Given the description of an element on the screen output the (x, y) to click on. 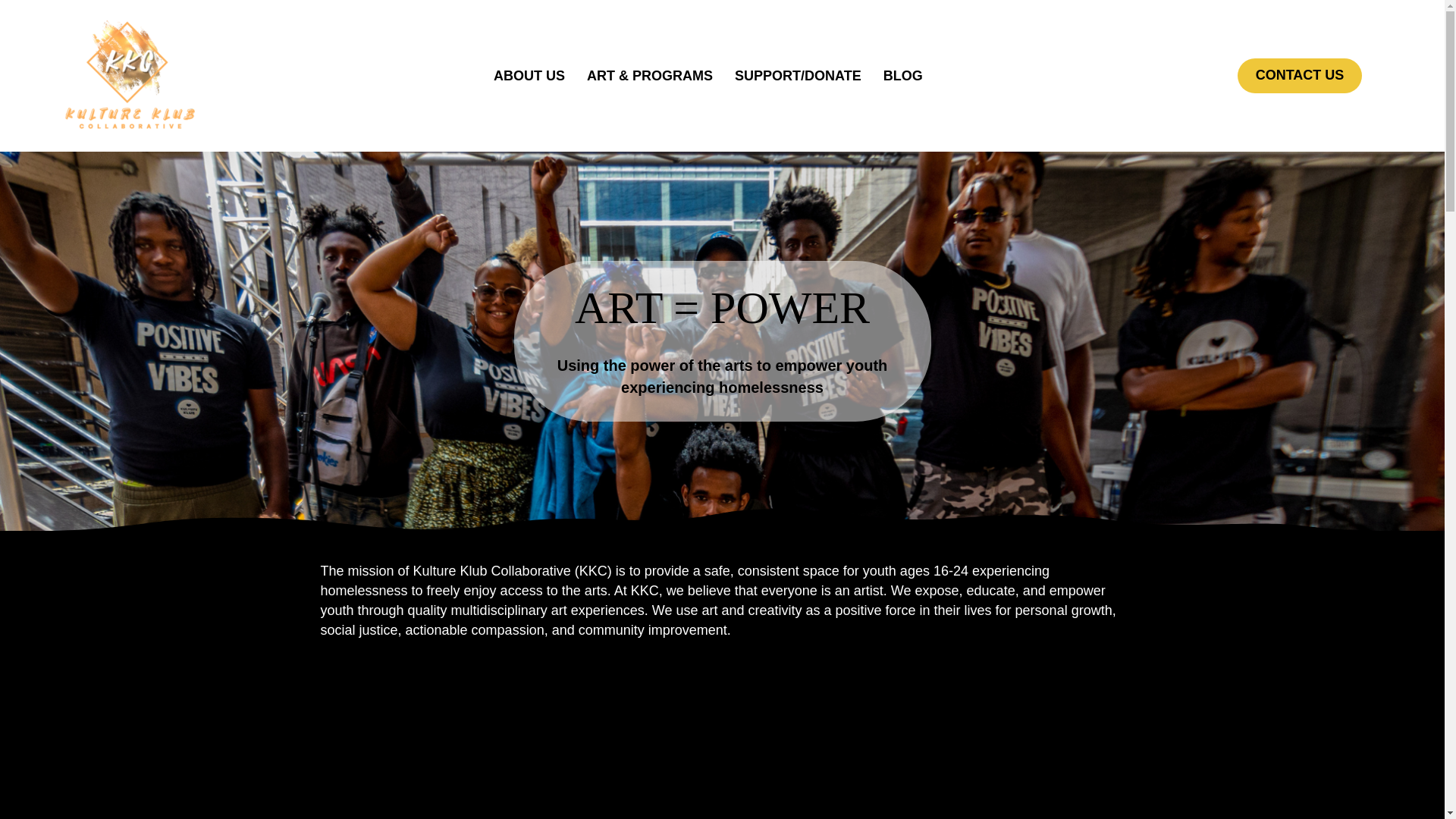
BLOG (902, 75)
CONTACT US (1299, 75)
ABOUT US (529, 75)
